Given the description of an element on the screen output the (x, y) to click on. 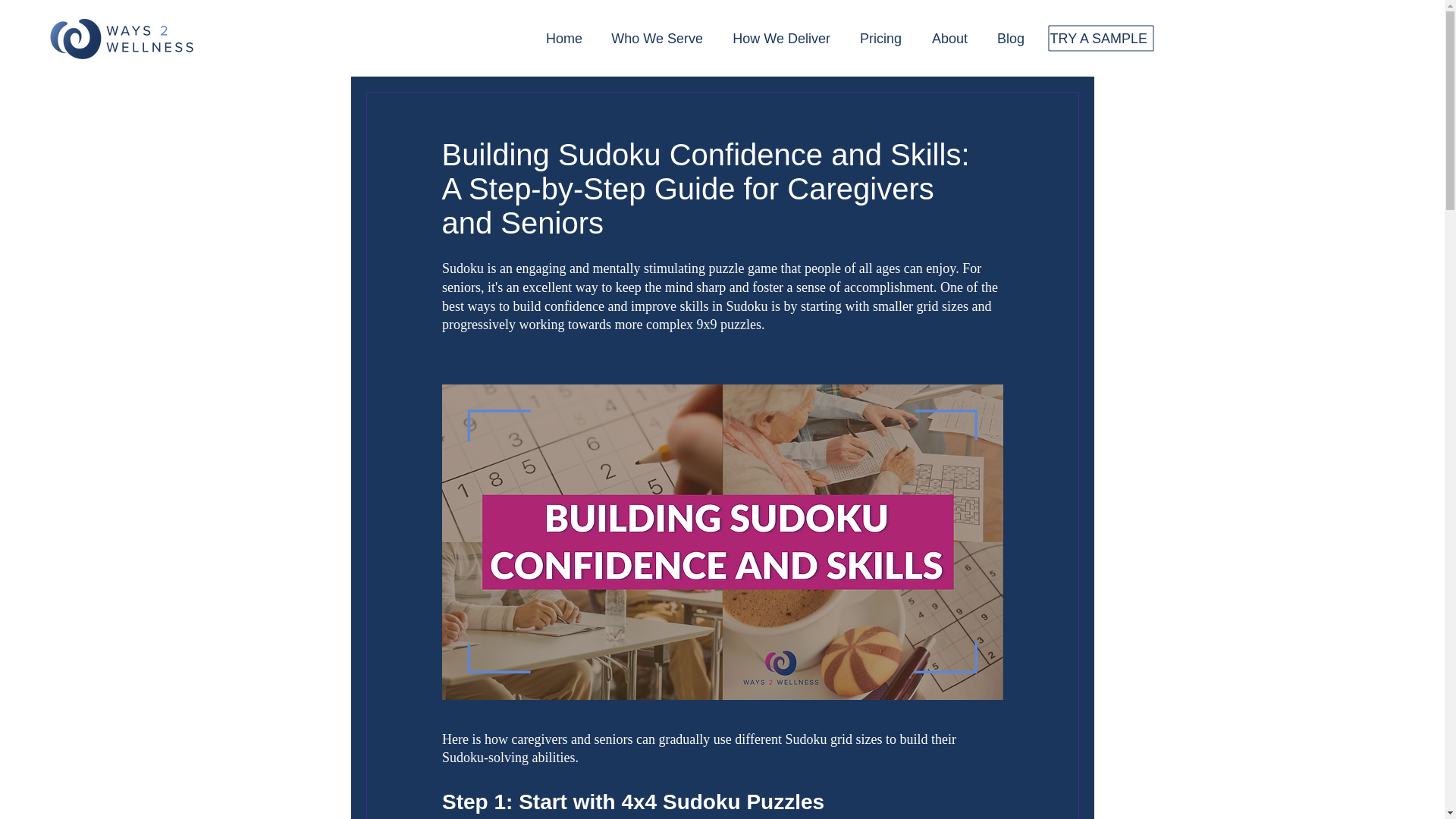
Blog (1003, 38)
TRY A SAMPLE (1093, 38)
Home (555, 38)
About (941, 38)
